Given the description of an element on the screen output the (x, y) to click on. 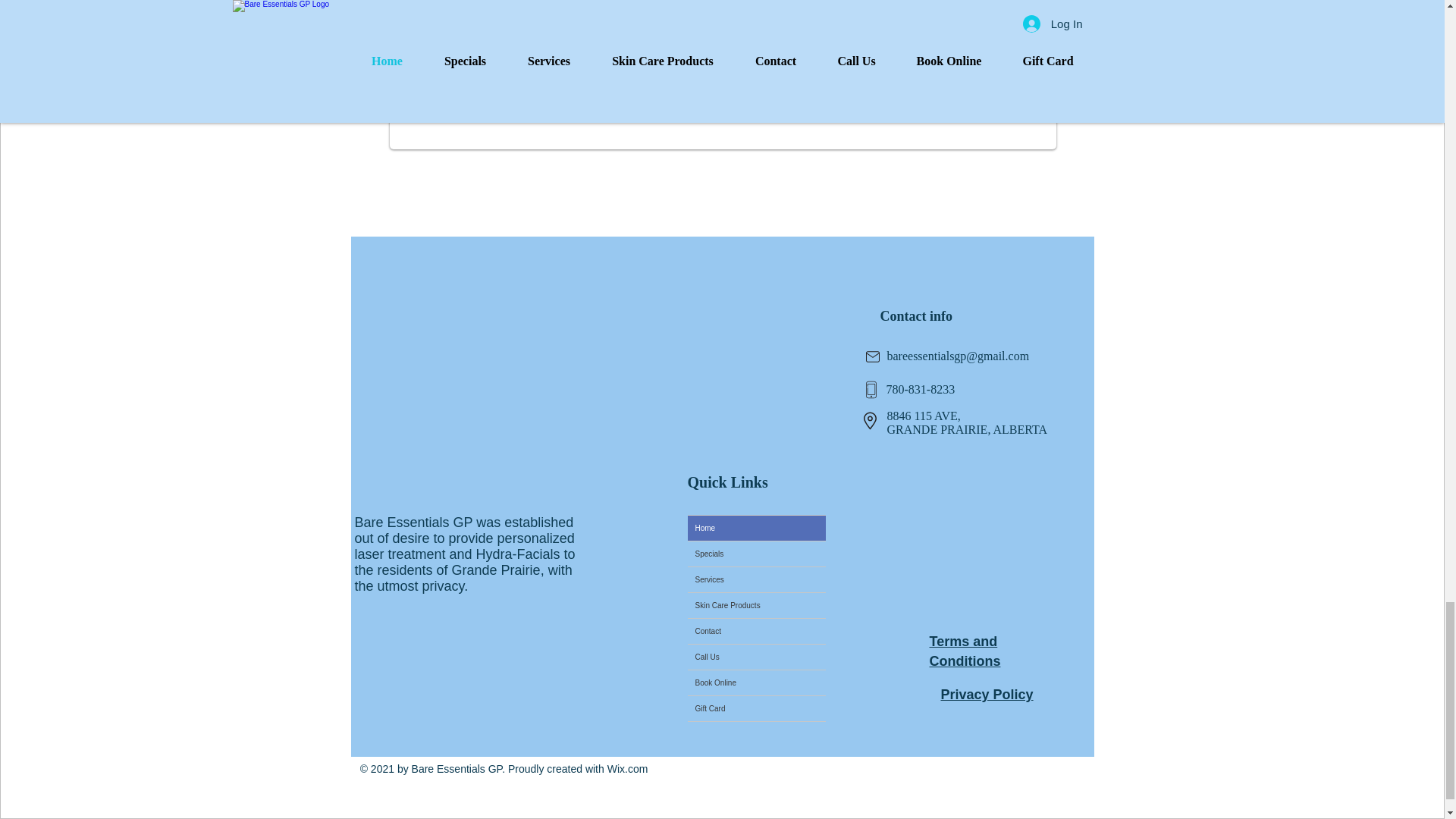
Privacy Policy (986, 694)
Terms and Conditions (965, 650)
Contact (756, 631)
Book Online (756, 682)
Skin Care Products (756, 605)
Specials (756, 553)
Home (756, 527)
Call Us (756, 656)
Services (756, 579)
Wix.com (627, 768)
